Given the description of an element on the screen output the (x, y) to click on. 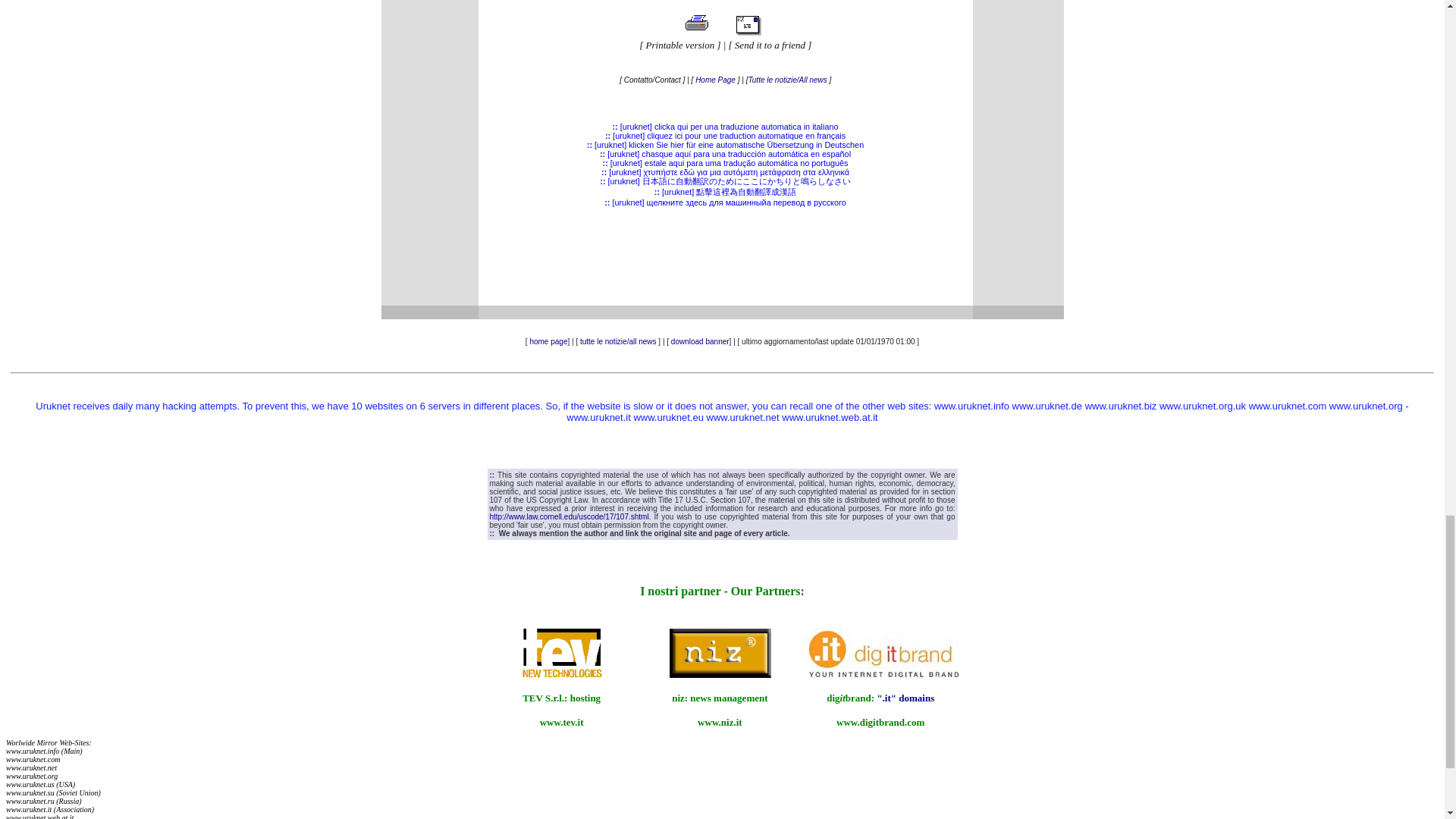
Send it to a friend (770, 44)
Printable version (680, 44)
Home Page (715, 80)
